Given the description of an element on the screen output the (x, y) to click on. 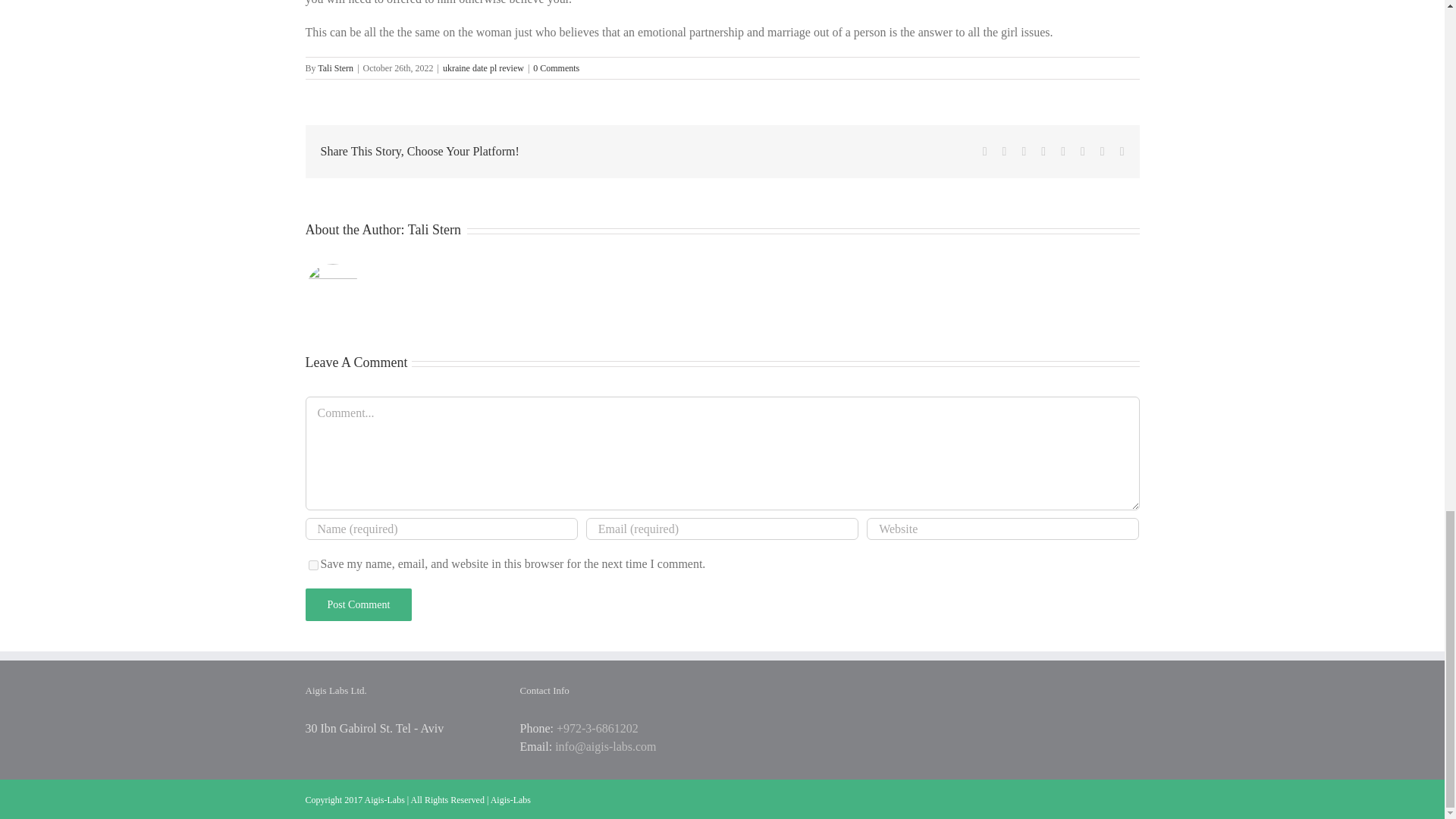
Tali Stern (335, 68)
Post Comment (358, 604)
Posts by Tali Stern (335, 68)
yes (312, 565)
Posts by Tali Stern (434, 229)
ukraine date pl review (483, 68)
0 Comments (555, 68)
